Given the description of an element on the screen output the (x, y) to click on. 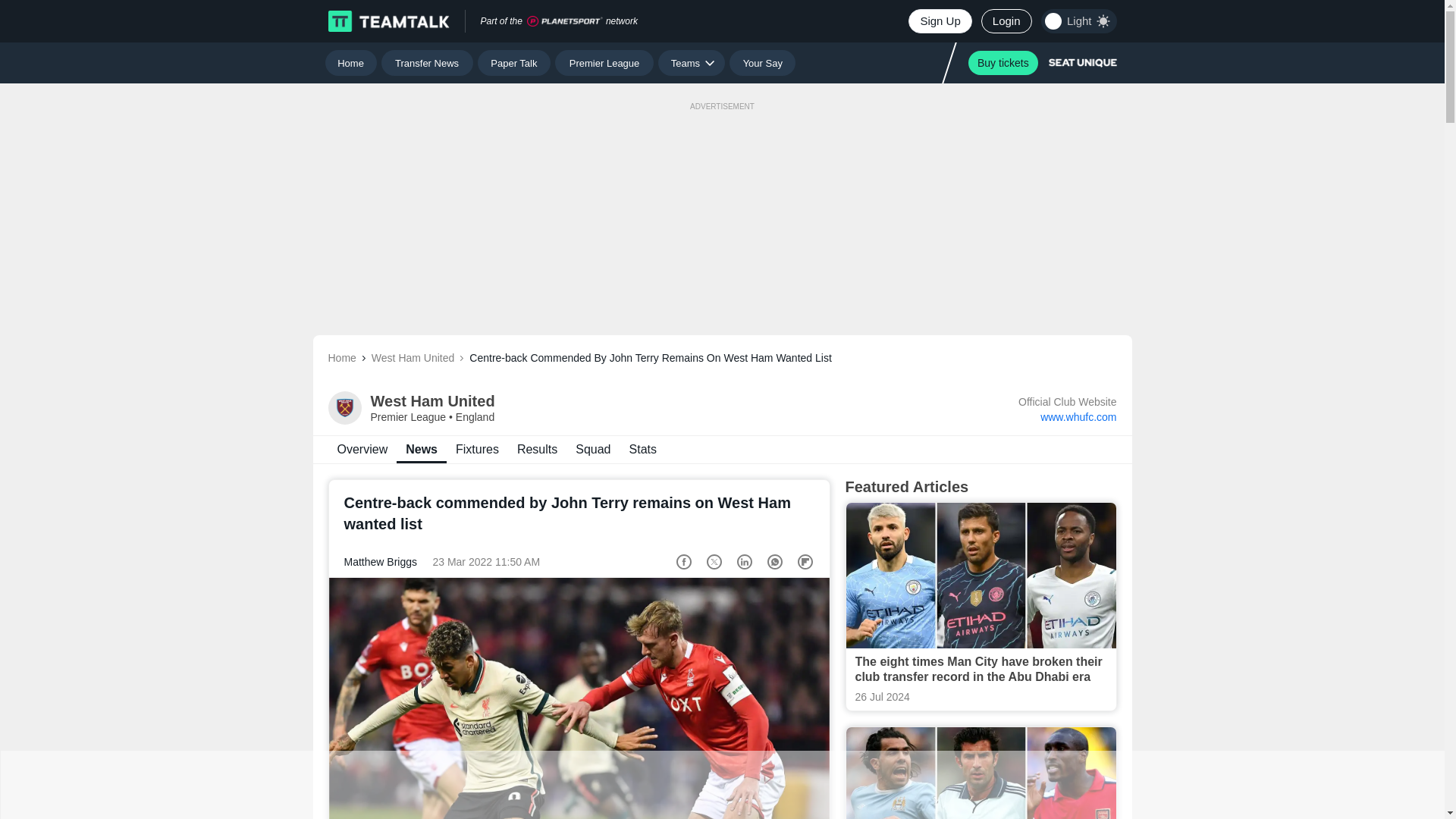
Sign Up (939, 21)
Teams (691, 62)
Your Say (761, 62)
Paper Talk (514, 62)
Home (349, 62)
Roberto Firmino Joe Worrall March 2022 (579, 698)
West Ham United Results (537, 449)
3rd party ad content (721, 785)
West Ham United Transfer News (361, 449)
3rd party ad content (721, 203)
West Ham United Squad (593, 449)
Buy tickets (722, 449)
Premier League (1003, 62)
Login (603, 62)
